Given the description of an element on the screen output the (x, y) to click on. 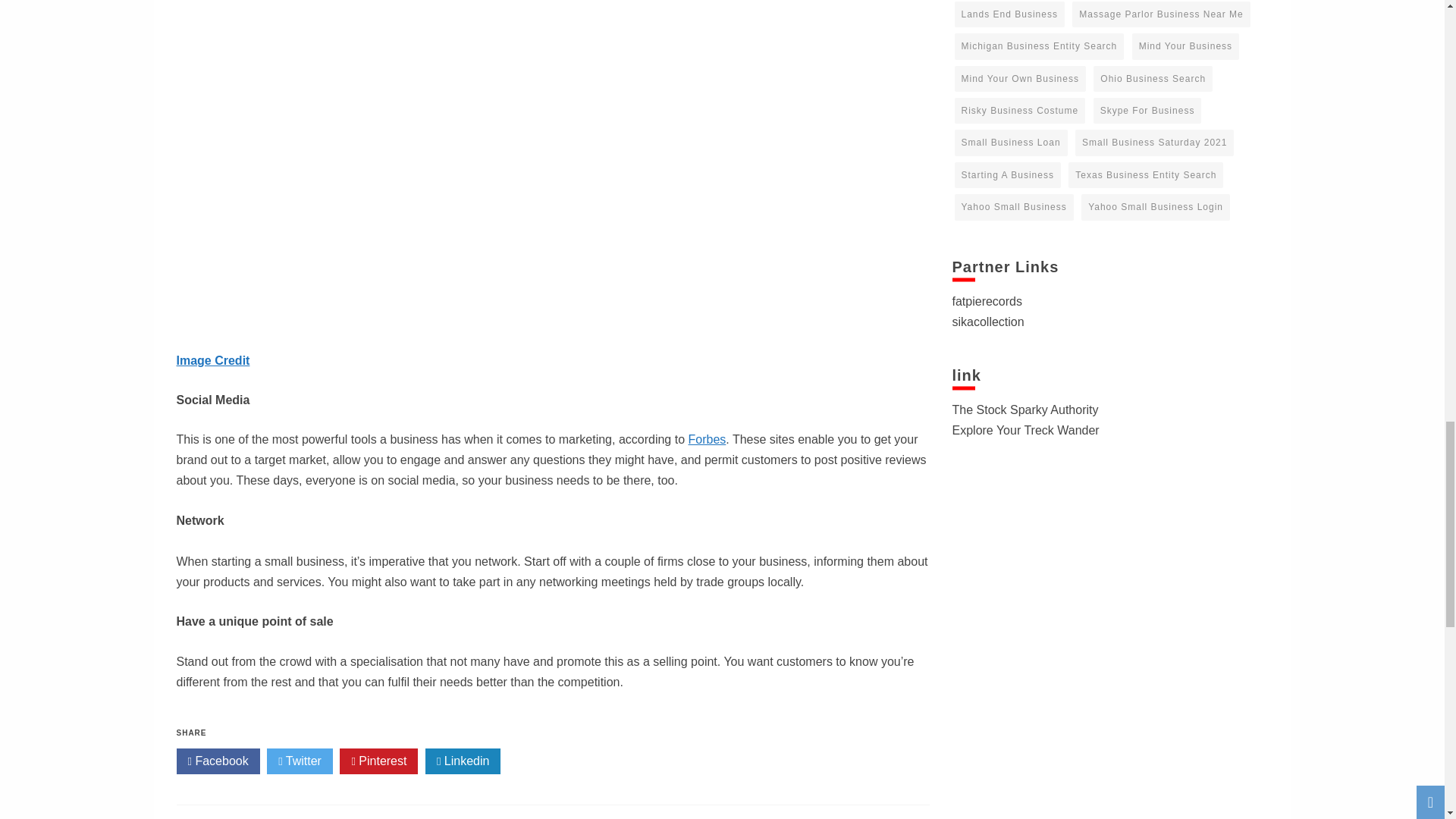
Pinterest (378, 760)
Twitter (299, 760)
Facebook (217, 760)
Linkedin (462, 760)
Forbes (707, 439)
Image Credit (212, 359)
